Given the description of an element on the screen output the (x, y) to click on. 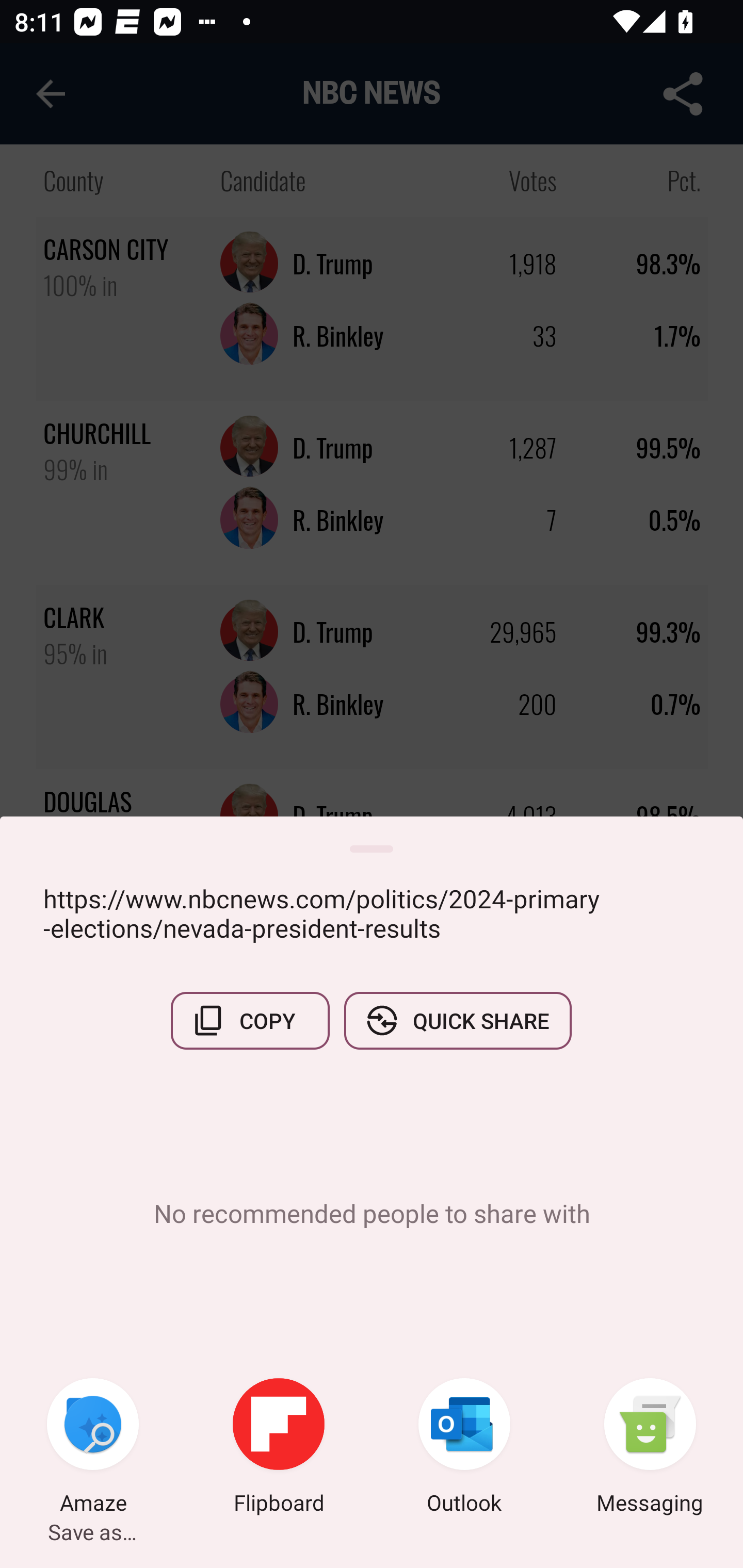
COPY (249, 1020)
QUICK SHARE (457, 1020)
Amaze Save as… (92, 1448)
Flipboard (278, 1448)
Outlook (464, 1448)
Messaging (650, 1448)
